Given the description of an element on the screen output the (x, y) to click on. 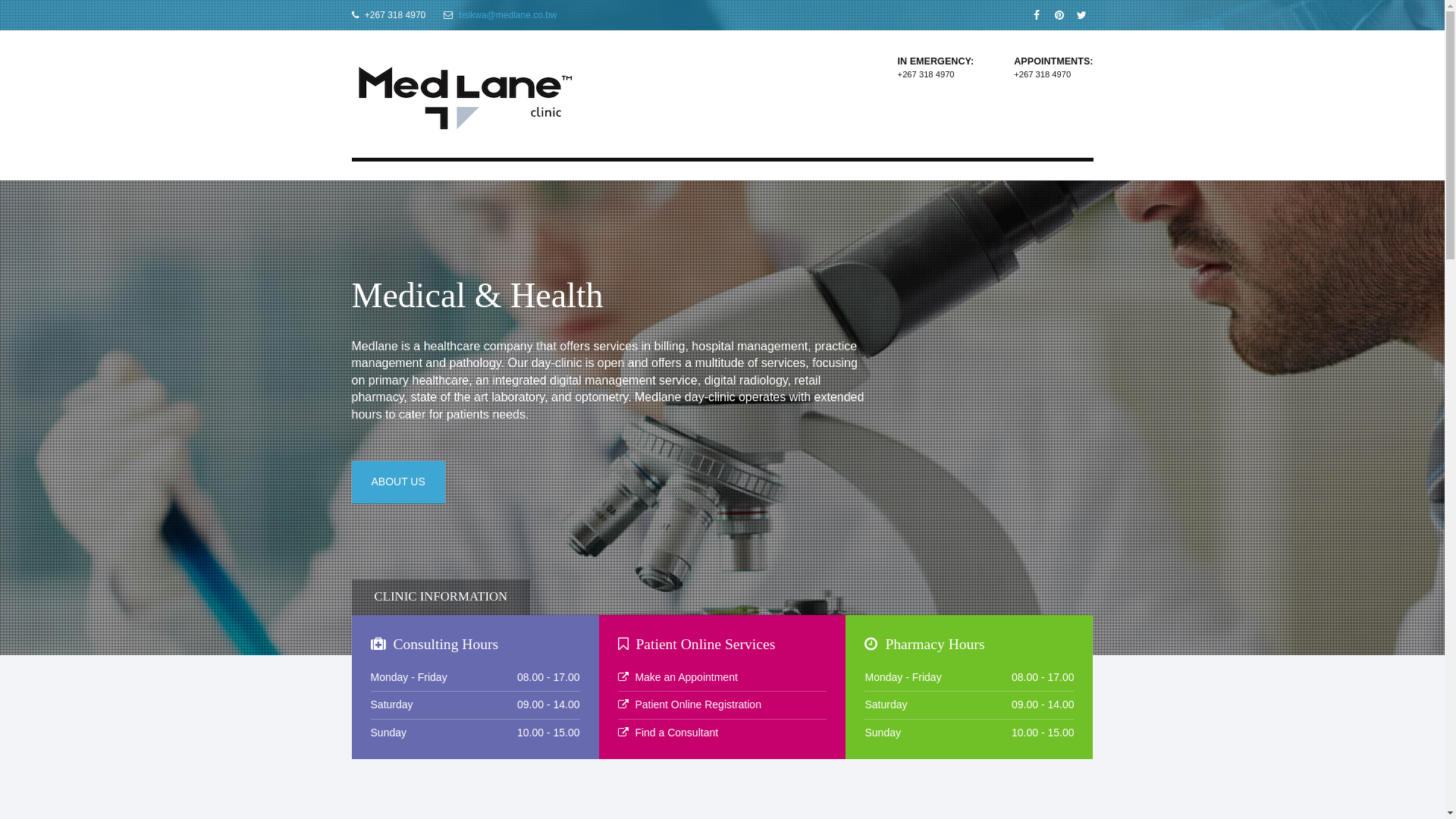
bsikwa@medlane.co.bw Element type: text (507, 14)
Make an Appointment Element type: text (685, 677)
Patient Online Registration Element type: text (697, 704)
ABOUT US Element type: text (398, 482)
Find a Consultant Element type: text (676, 732)
